Given the description of an element on the screen output the (x, y) to click on. 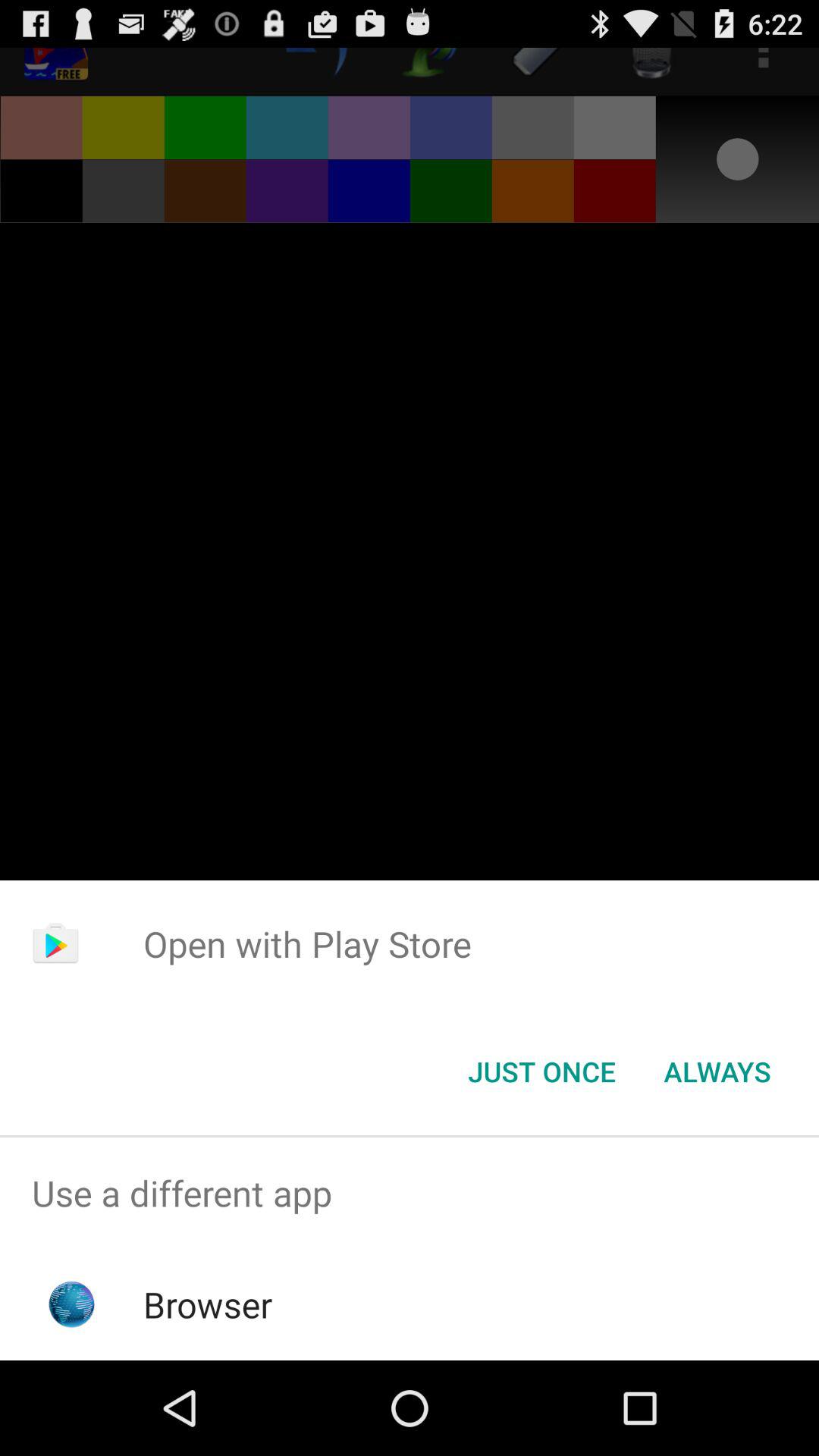
press app above the browser icon (409, 1192)
